Given the description of an element on the screen output the (x, y) to click on. 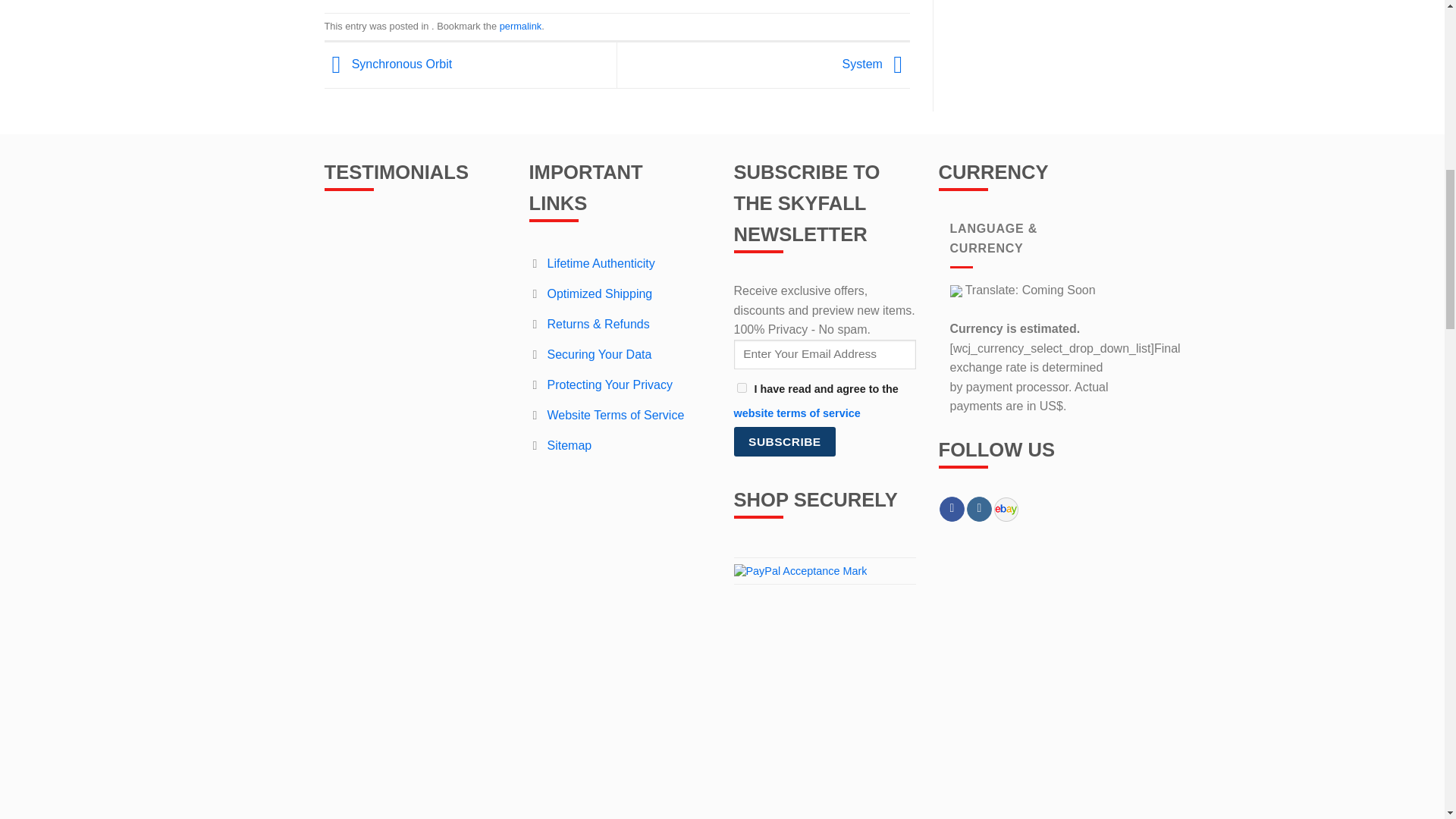
Follow on Instagram (978, 509)
Subscribe (784, 441)
Follow on Ebay (1005, 509)
1 (741, 388)
Follow on Facebook (951, 509)
How PayPal Works (800, 570)
Permalink to Synchrotron Emission (520, 25)
